Given the description of an element on the screen output the (x, y) to click on. 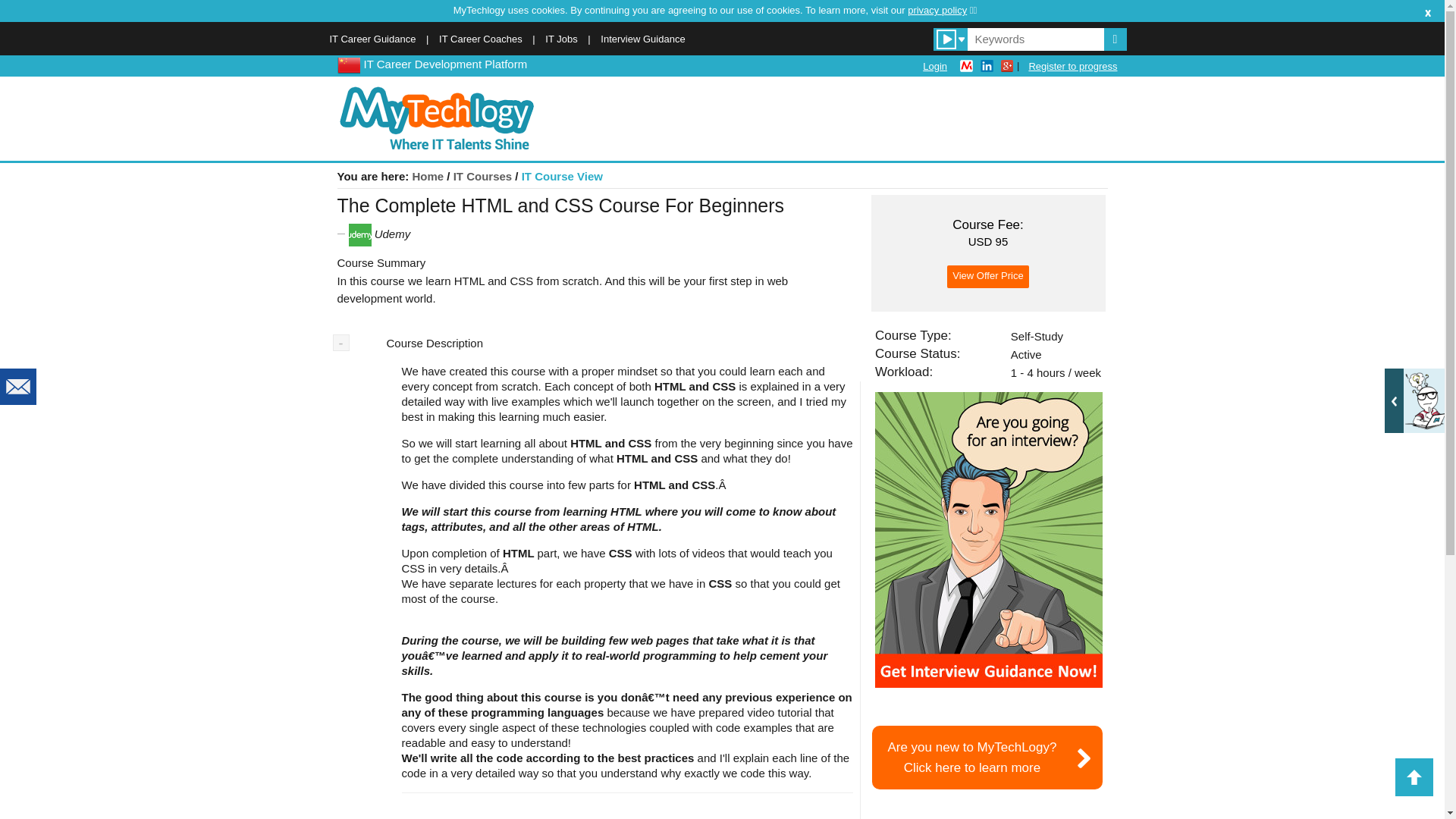
China (347, 63)
Login (935, 66)
IT Jobs (560, 39)
IT Career Coaches (480, 39)
x (1428, 11)
Going for an interview? Get Interview Guidance Now (987, 757)
Home (988, 539)
View Offer Price (428, 175)
Register to progress (987, 276)
View Offer Price (1071, 66)
Interview Guidance (987, 276)
privacy policy  (641, 39)
IT Career Guidance (941, 9)
IT Courses (371, 39)
